Given the description of an element on the screen output the (x, y) to click on. 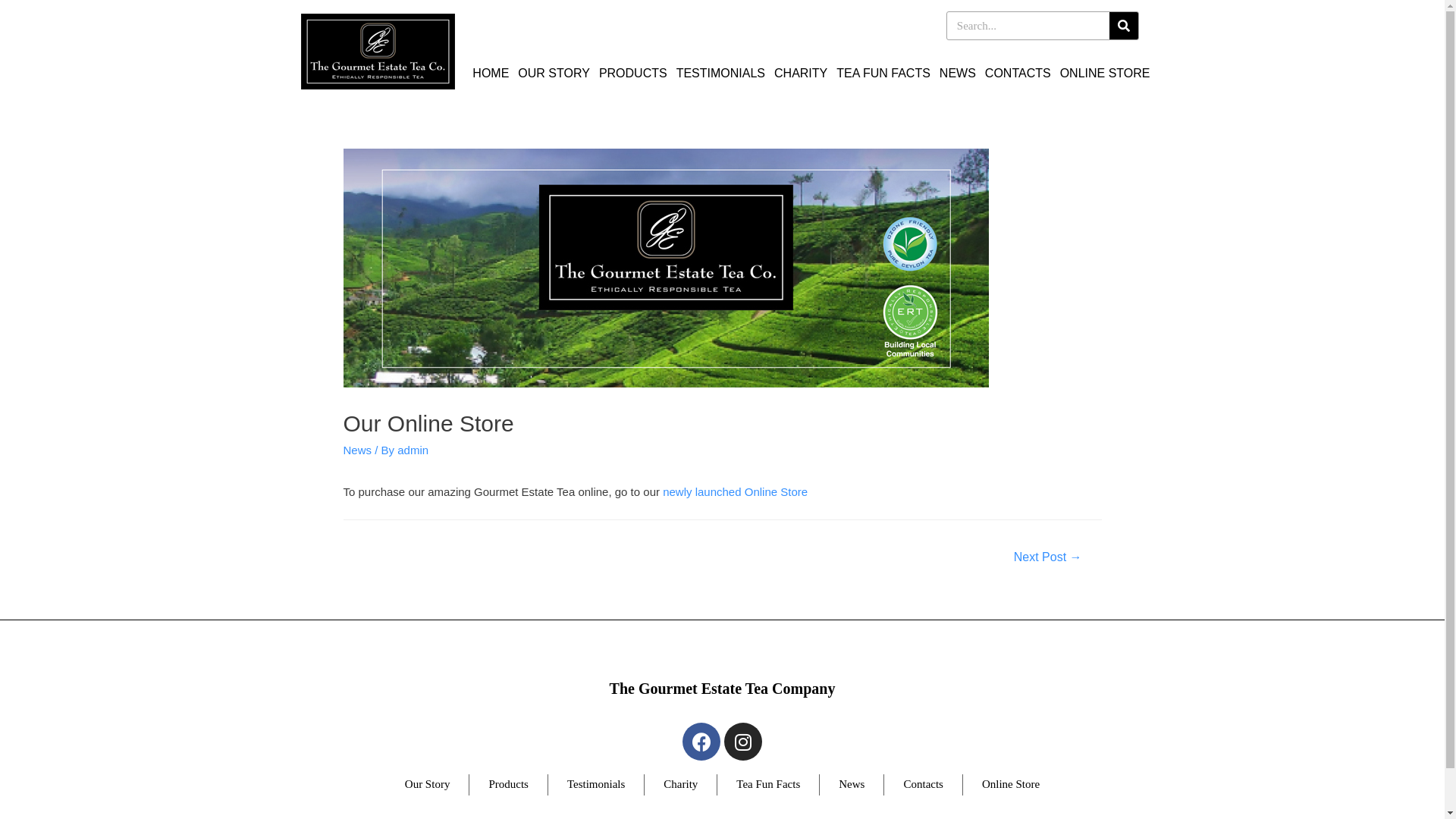
TESTIMONIALS Element type: text (720, 73)
News Element type: text (356, 449)
OUR STORY Element type: text (553, 73)
Tea Fun Facts Element type: text (768, 784)
Search Element type: hover (1123, 25)
newly launched Online Store Element type: text (734, 491)
Online Store Element type: text (1010, 784)
Our Story Element type: text (427, 784)
admin Element type: text (412, 449)
ONLINE STORE Element type: text (1104, 73)
Search Element type: hover (1028, 25)
Testimonials Element type: text (595, 784)
HOME Element type: text (490, 73)
Charity Element type: text (680, 784)
PRODUCTS Element type: text (632, 73)
News Element type: text (851, 784)
Products Element type: text (508, 784)
NEWS Element type: text (957, 73)
CHARITY Element type: text (800, 73)
TEA FUN FACTS Element type: text (883, 73)
Contacts Element type: text (923, 784)
CONTACTS Element type: text (1017, 73)
